Given the description of an element on the screen output the (x, y) to click on. 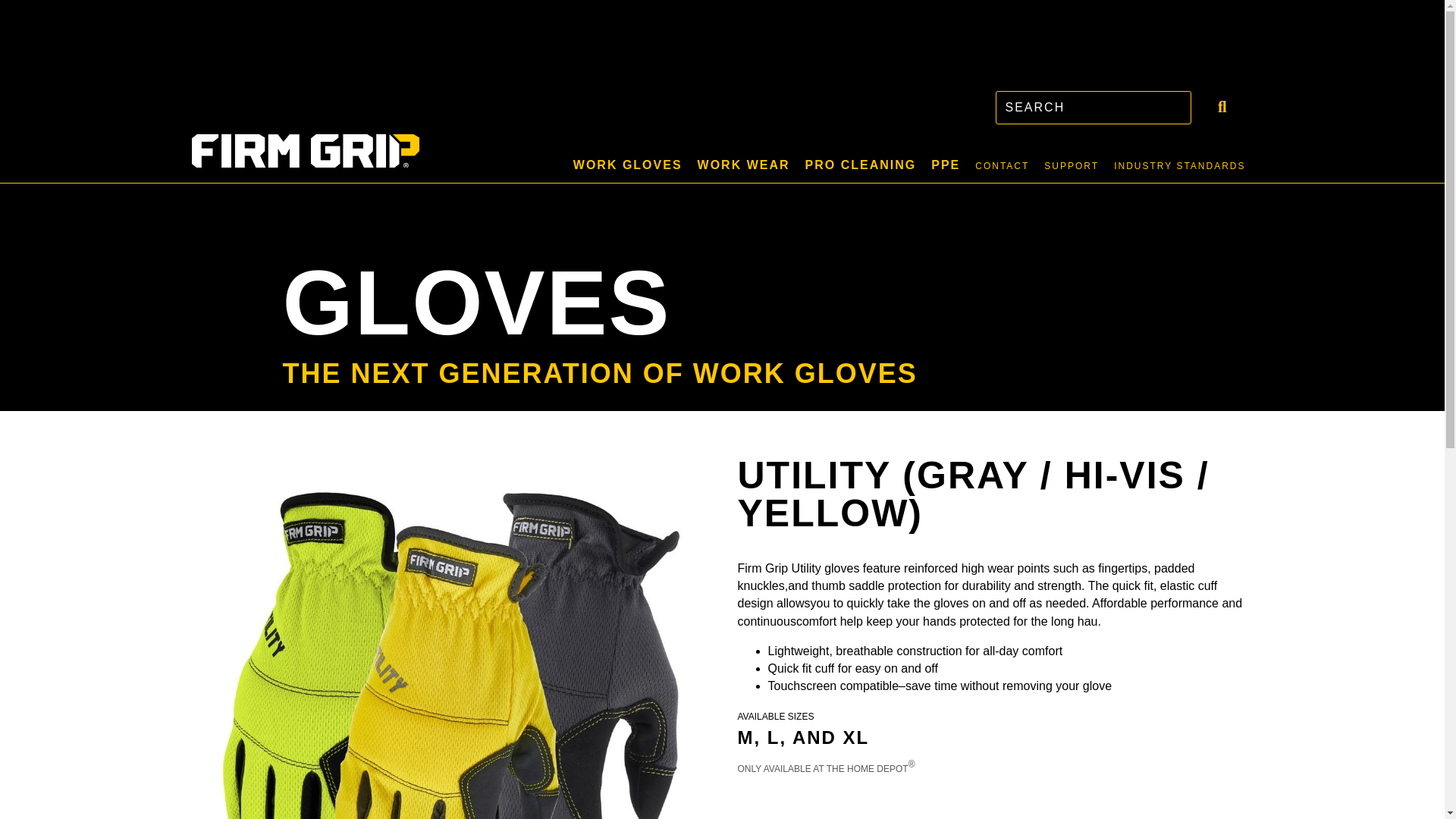
PPE (945, 165)
PRO CLEANING (860, 165)
INDUSTRY STANDARDS (1179, 165)
firmgrip-horz-white (304, 150)
WORK WEAR (743, 165)
CONTACT (1002, 165)
SUPPORT (1071, 165)
WORK GLOVES (628, 165)
